Given the description of an element on the screen output the (x, y) to click on. 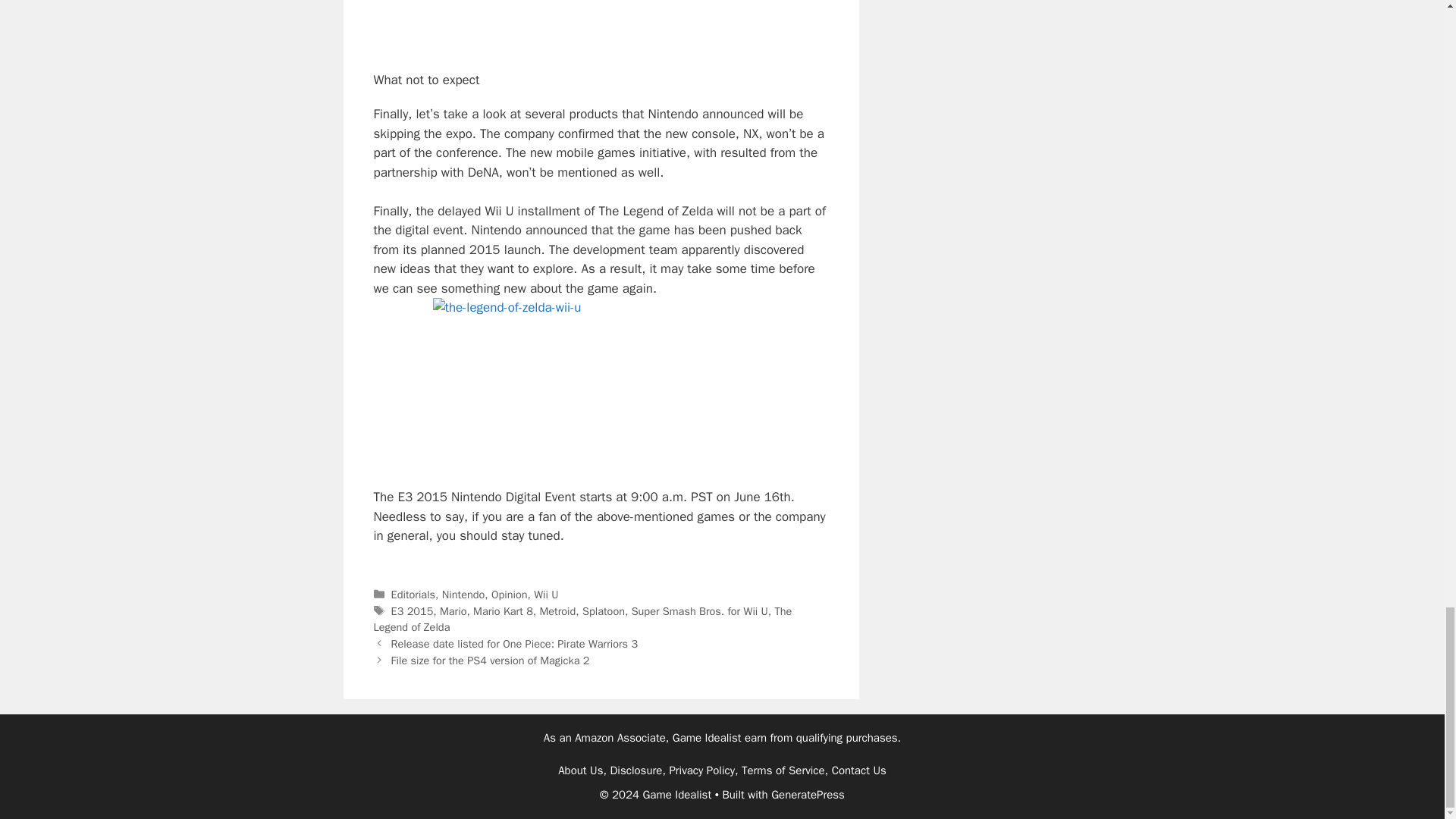
Nintendo (463, 594)
Opinion (509, 594)
File size for the PS4 version of Magicka 2 (490, 660)
Metroid (558, 611)
E3 2015 (412, 611)
Splatoon (603, 611)
Wii U (545, 594)
Mario Kart 8 (502, 611)
Super Smash Bros. for Wii U (699, 611)
About Us, (582, 770)
